Given the description of an element on the screen output the (x, y) to click on. 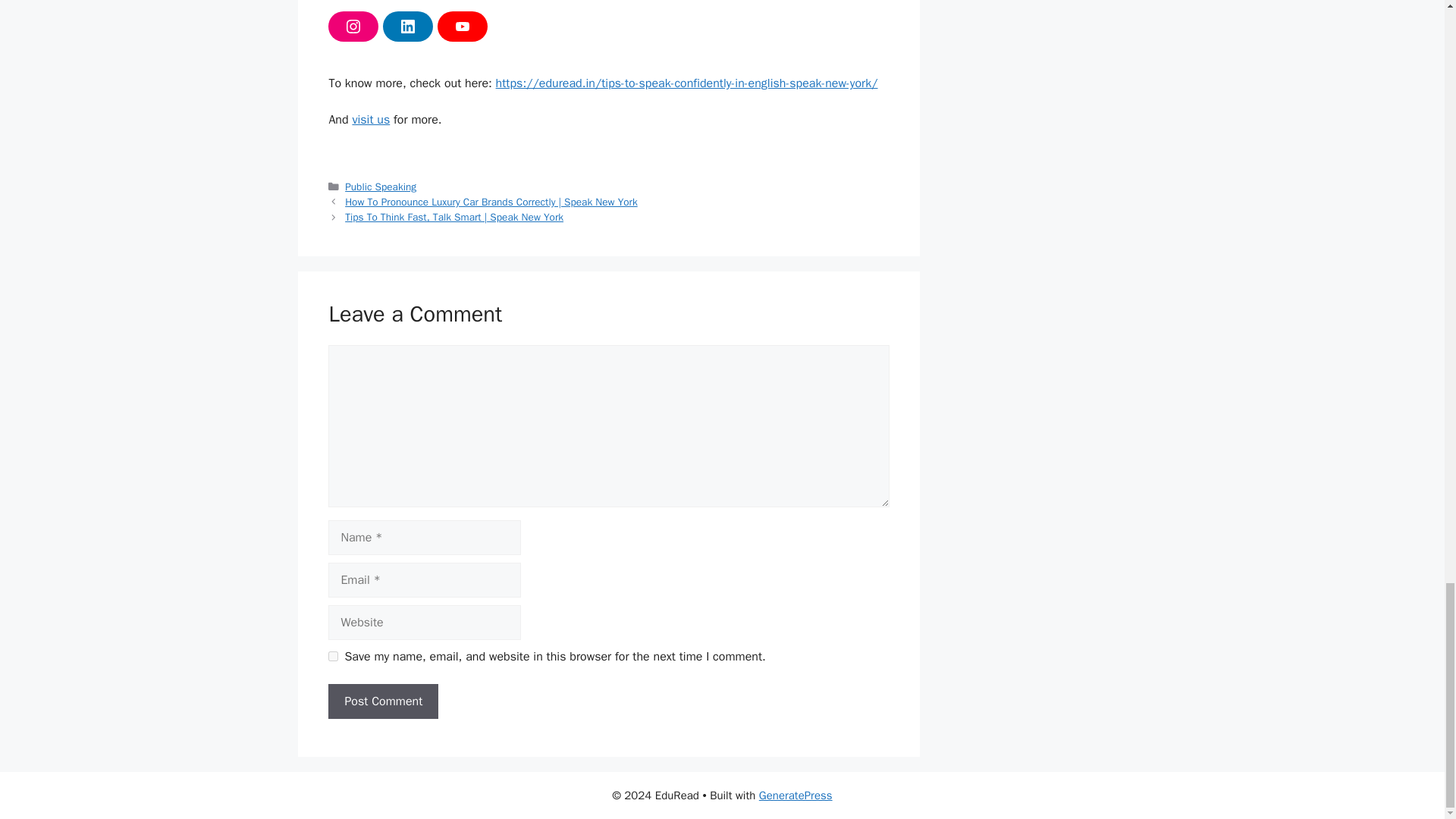
YouTube (462, 26)
Post Comment (383, 701)
visit us (371, 119)
Linkedin (407, 26)
Linkedin (407, 26)
Post Comment (383, 701)
yes (333, 655)
Instagram (353, 26)
YouTube (462, 26)
Instagram (353, 26)
Public Speaking (380, 186)
